Given the description of an element on the screen output the (x, y) to click on. 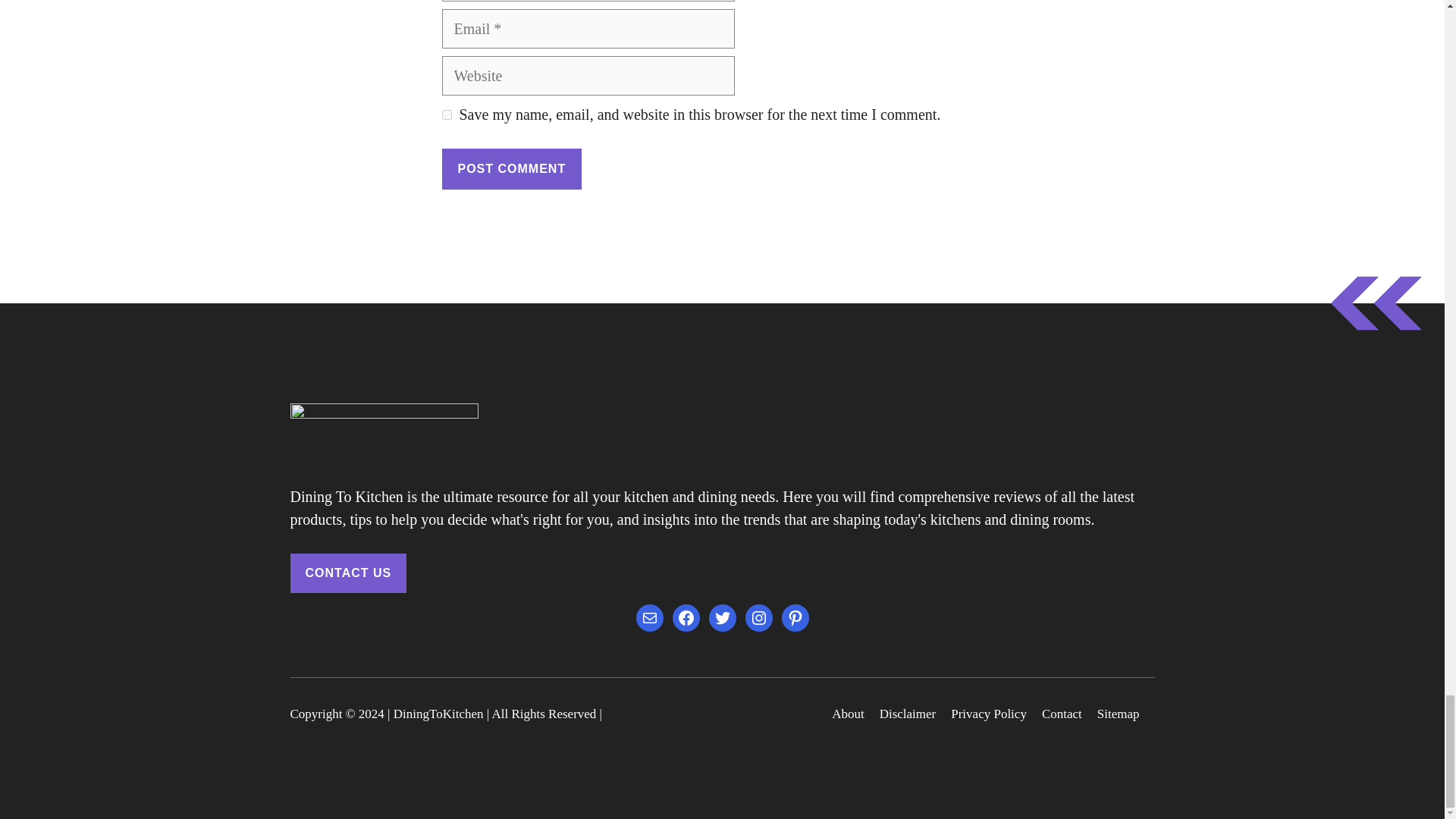
Post Comment (510, 168)
yes (446, 114)
